Given the description of an element on the screen output the (x, y) to click on. 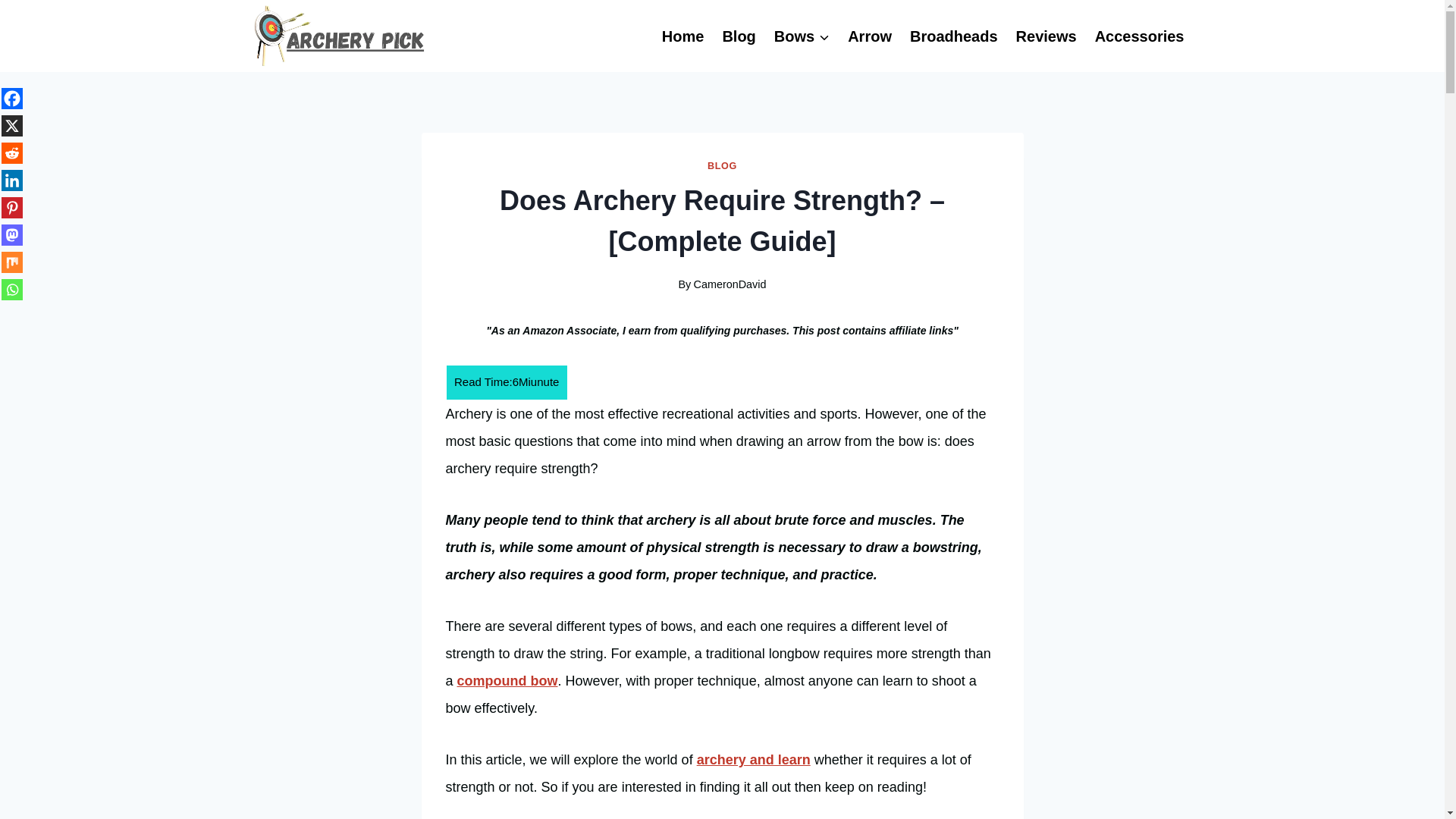
Broadheads (954, 36)
Bows (801, 36)
X (12, 125)
archery and learn (753, 759)
compound bow (507, 680)
Facebook (12, 97)
Accessories (1139, 36)
Reviews (1046, 36)
Reddit (12, 152)
BLOG (721, 165)
